Given the description of an element on the screen output the (x, y) to click on. 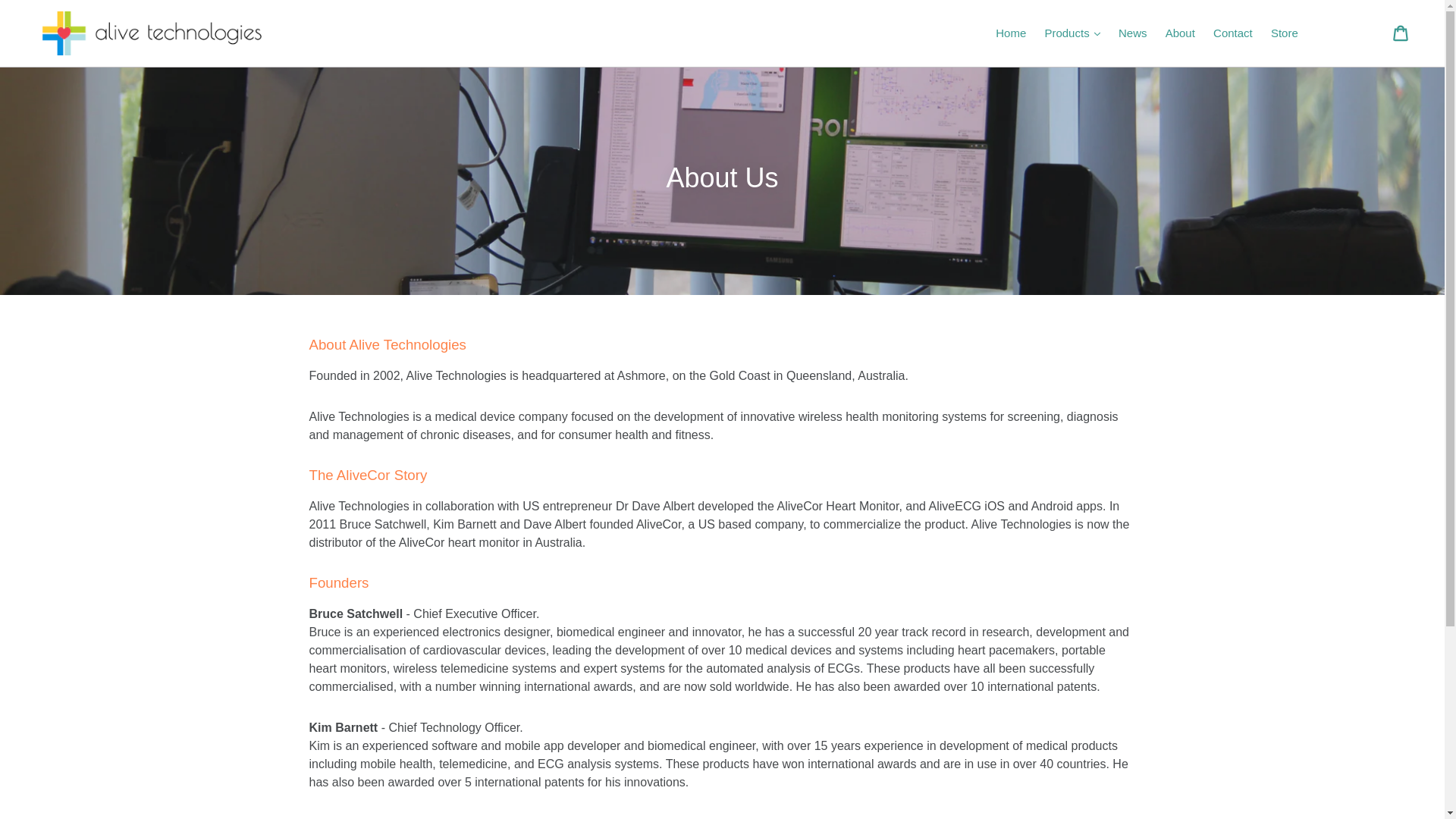
Contact (1232, 33)
About (1179, 33)
News (1132, 33)
Store (1284, 33)
Home (1010, 33)
